Given the description of an element on the screen output the (x, y) to click on. 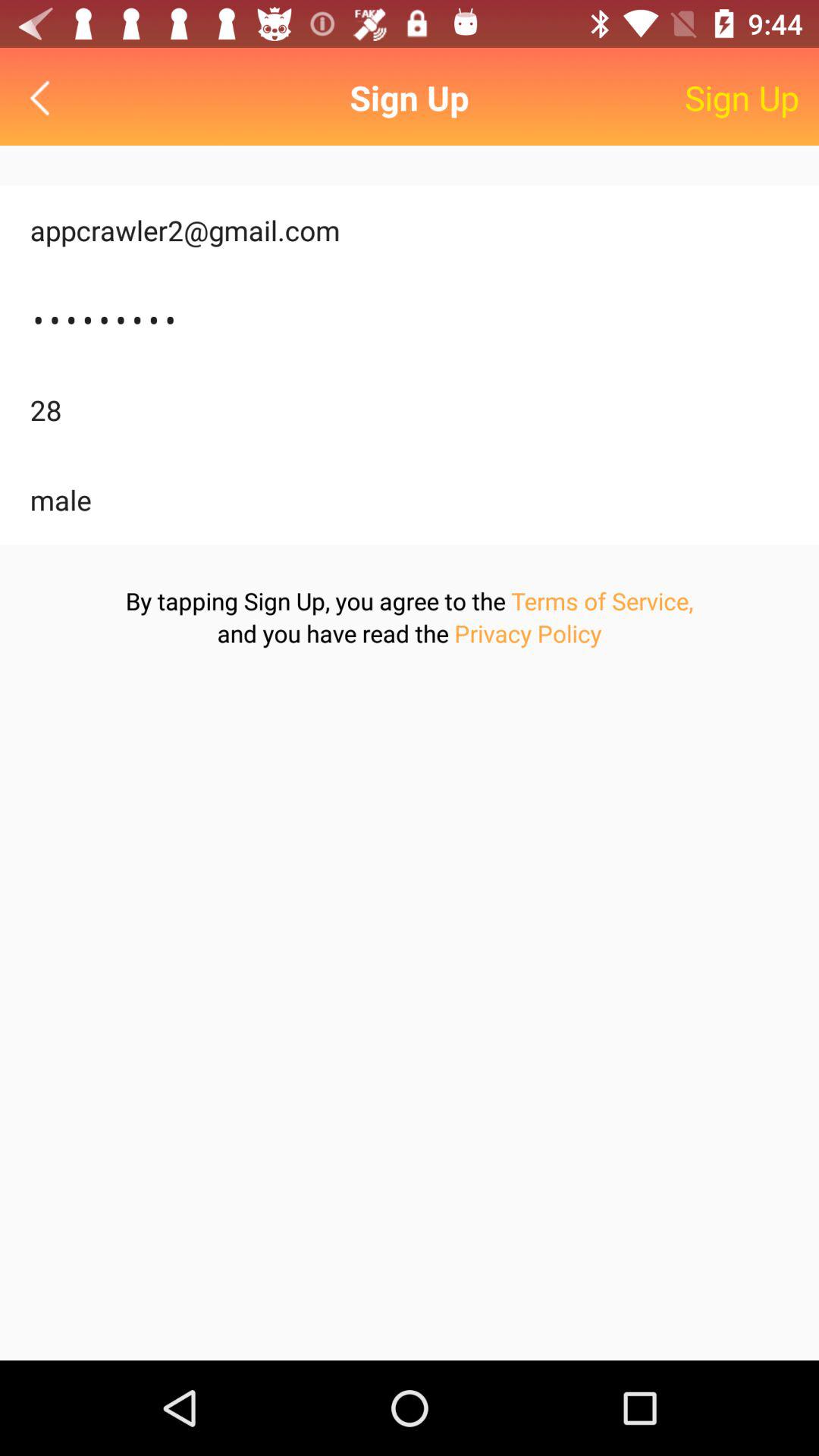
click crowd3116 (409, 320)
